Given the description of an element on the screen output the (x, y) to click on. 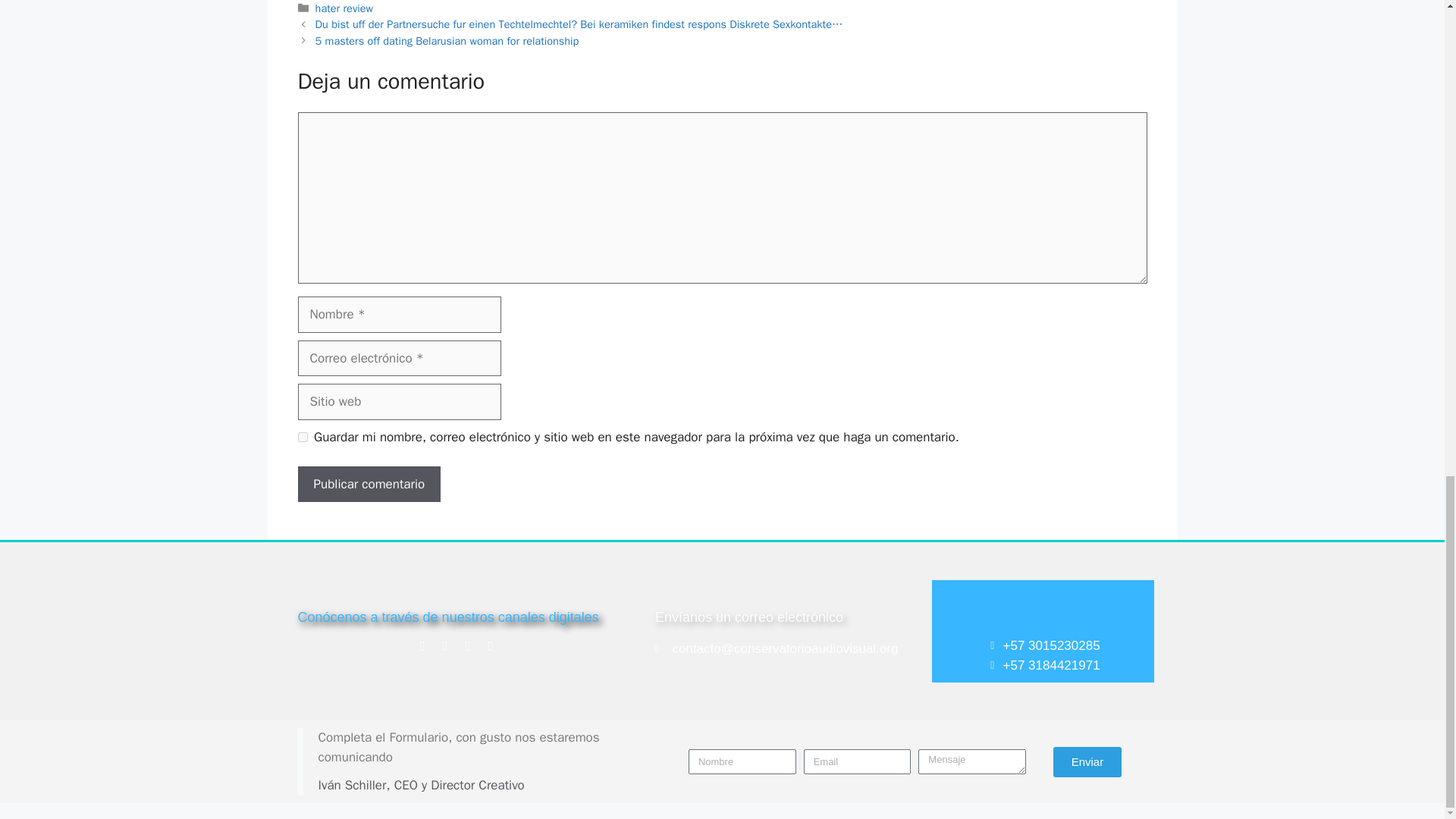
Enviar (1087, 761)
hater review (343, 8)
Publicar comentario (369, 484)
5 masters off dating Belarusian woman for relationship (447, 40)
Publicar comentario (369, 484)
yes (302, 437)
